Given the description of an element on the screen output the (x, y) to click on. 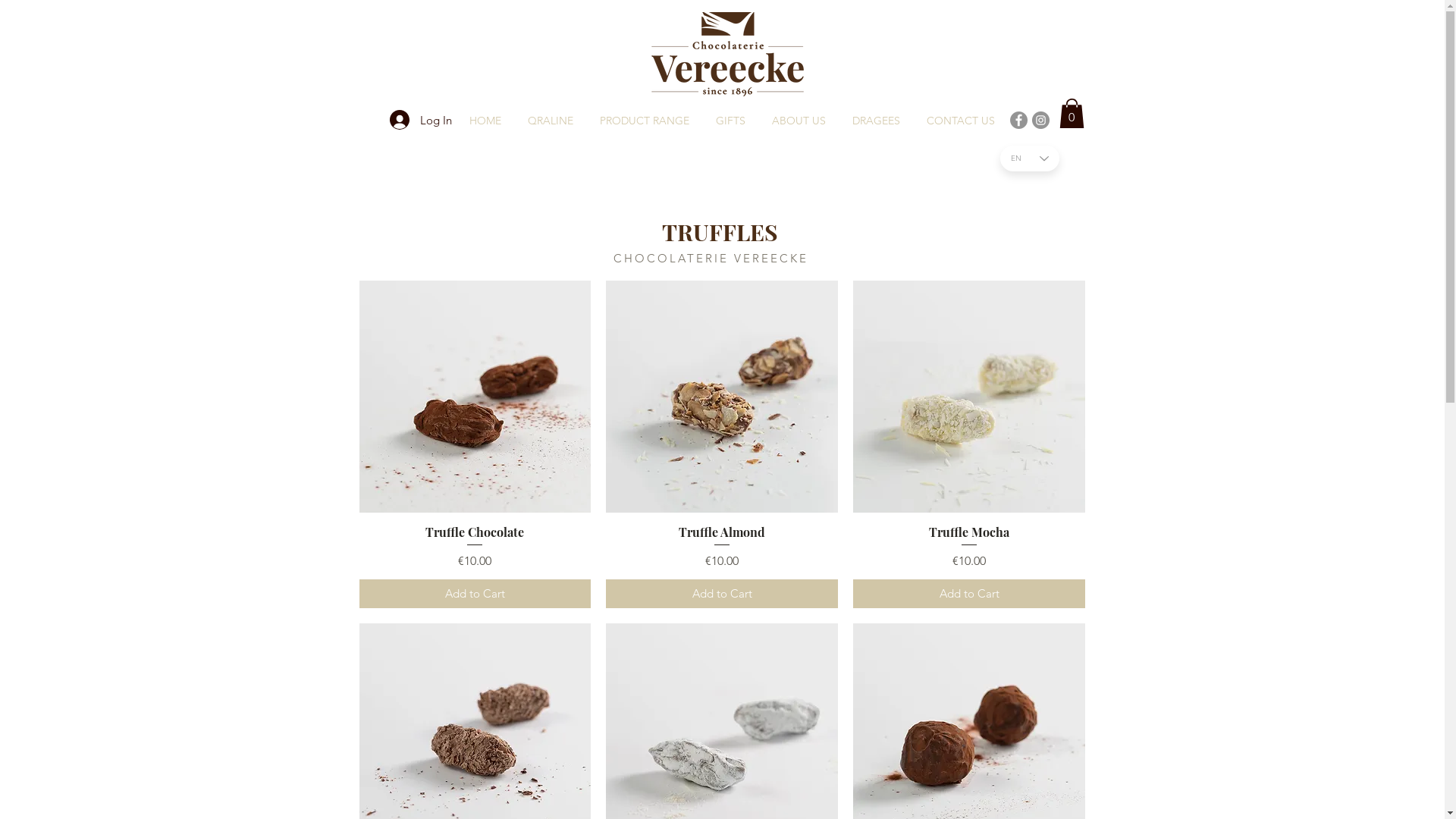
Log In Element type: text (420, 119)
GIFTS Element type: text (730, 120)
PRODUCT RANGE Element type: text (644, 120)
ABOUT US Element type: text (798, 120)
HOME Element type: text (484, 120)
0 Element type: text (1070, 113)
Add to Cart Element type: text (969, 593)
DRAGEES Element type: text (875, 120)
Add to Cart Element type: text (475, 593)
QRALINE Element type: text (550, 120)
Add to Cart Element type: text (721, 593)
CONTACT US Element type: text (960, 120)
